Given the description of an element on the screen output the (x, y) to click on. 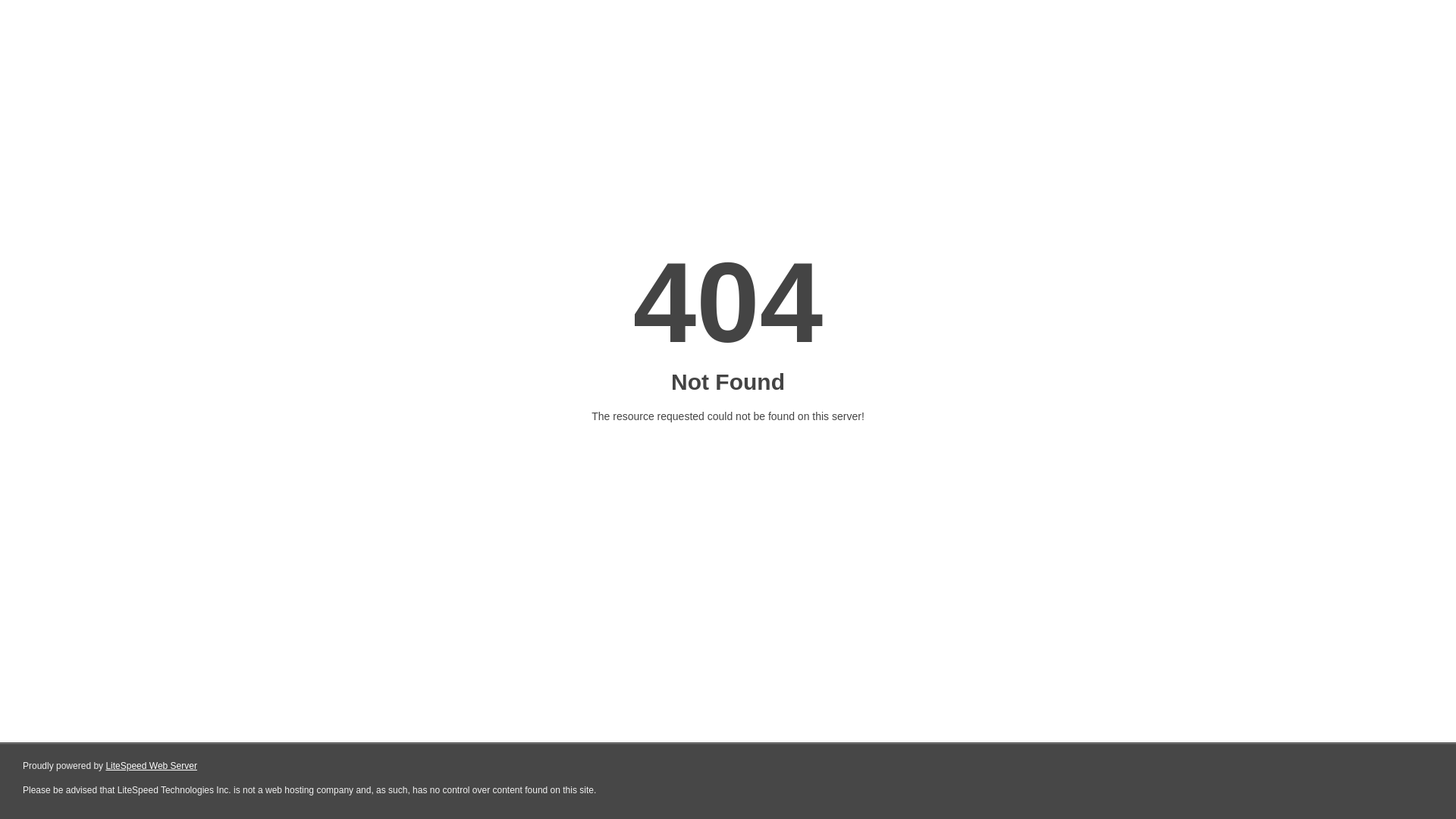
LiteSpeed Web Server Element type: text (151, 765)
